Given the description of an element on the screen output the (x, y) to click on. 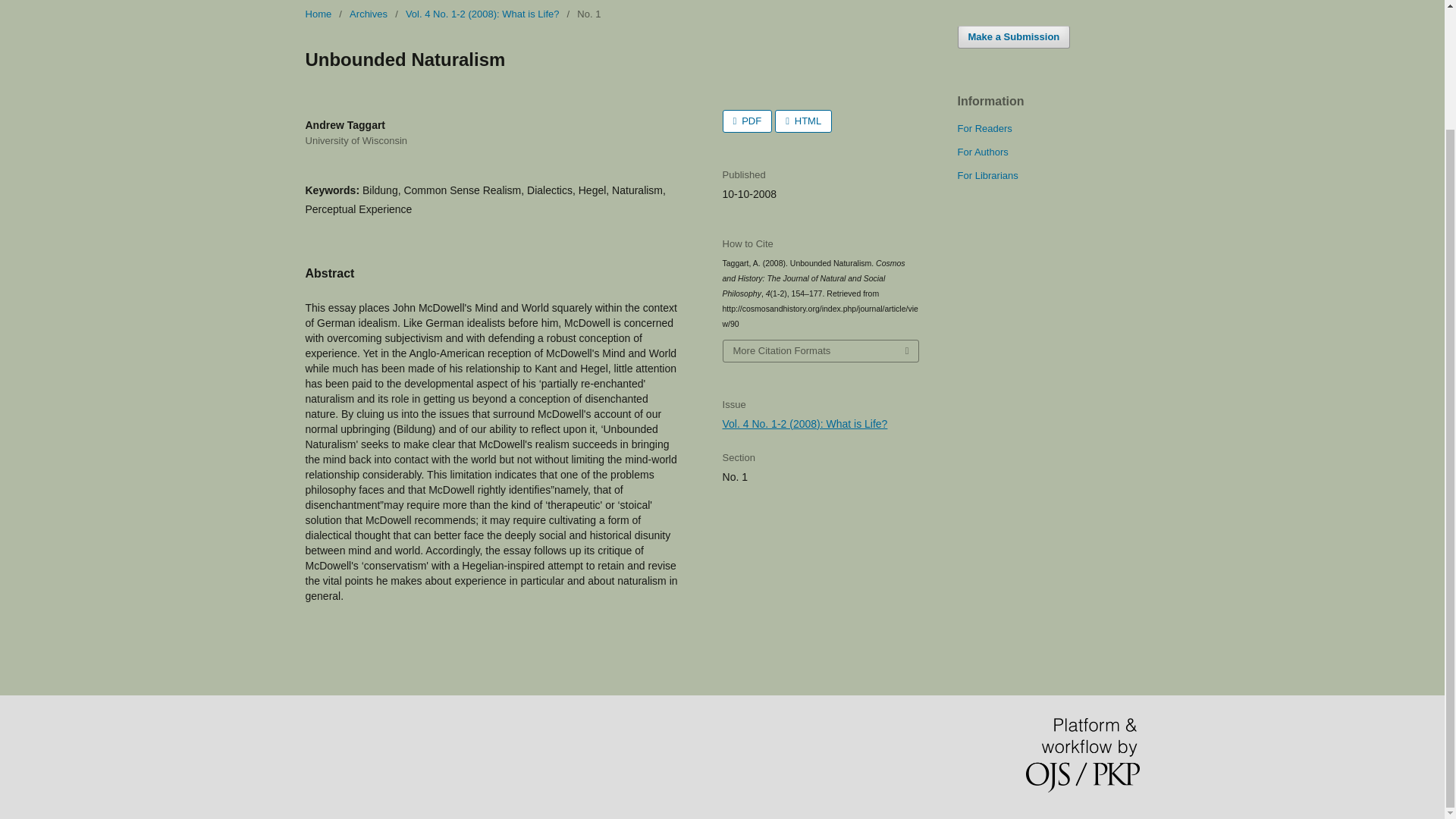
PDF (747, 120)
Archives (368, 14)
Home (317, 14)
HTML (802, 120)
More Citation Formats (820, 350)
